Given the description of an element on the screen output the (x, y) to click on. 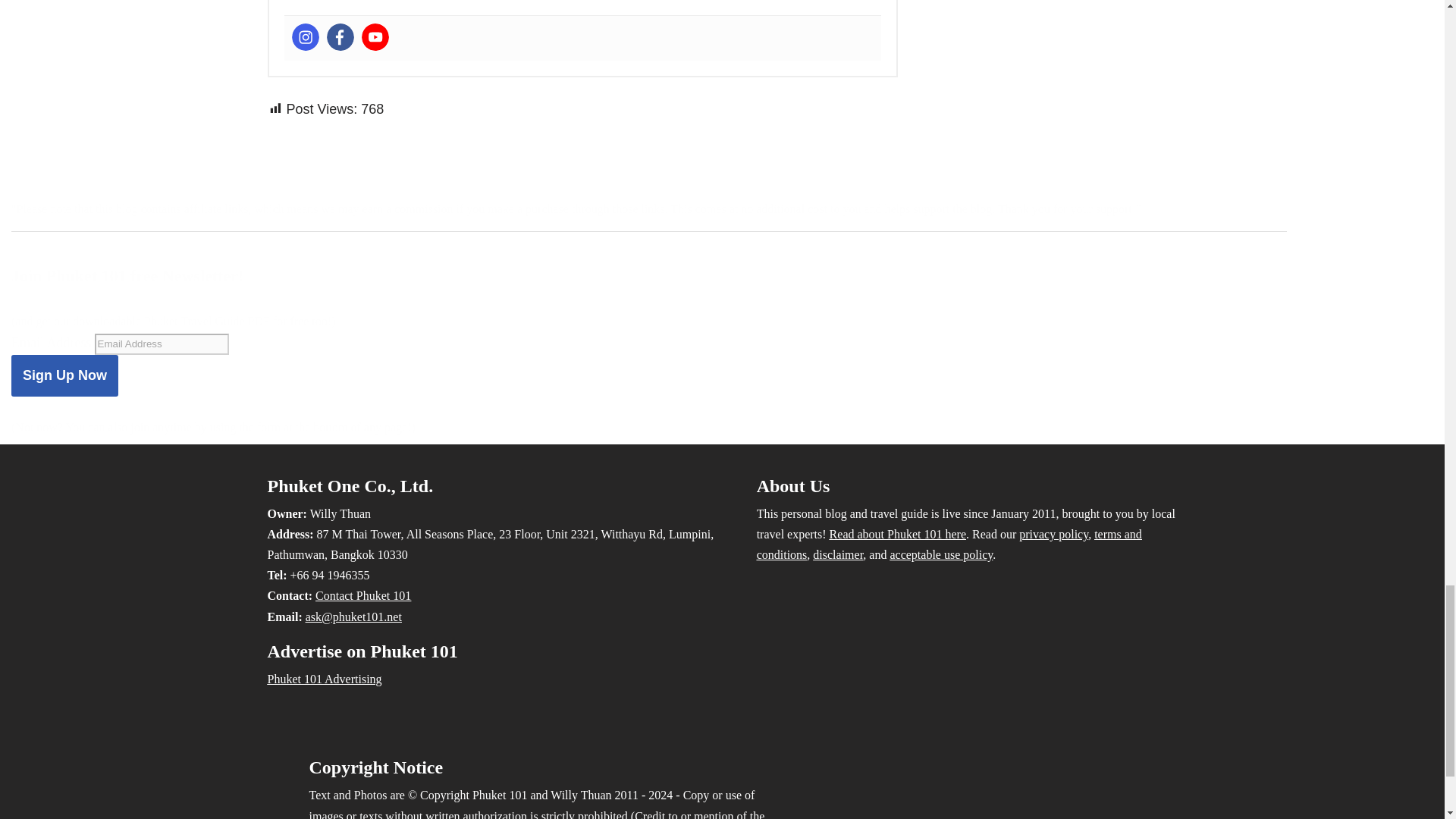
Instagram (304, 36)
Youtube (374, 36)
Facebook (339, 36)
Sign Up Now (64, 375)
